Given the description of an element on the screen output the (x, y) to click on. 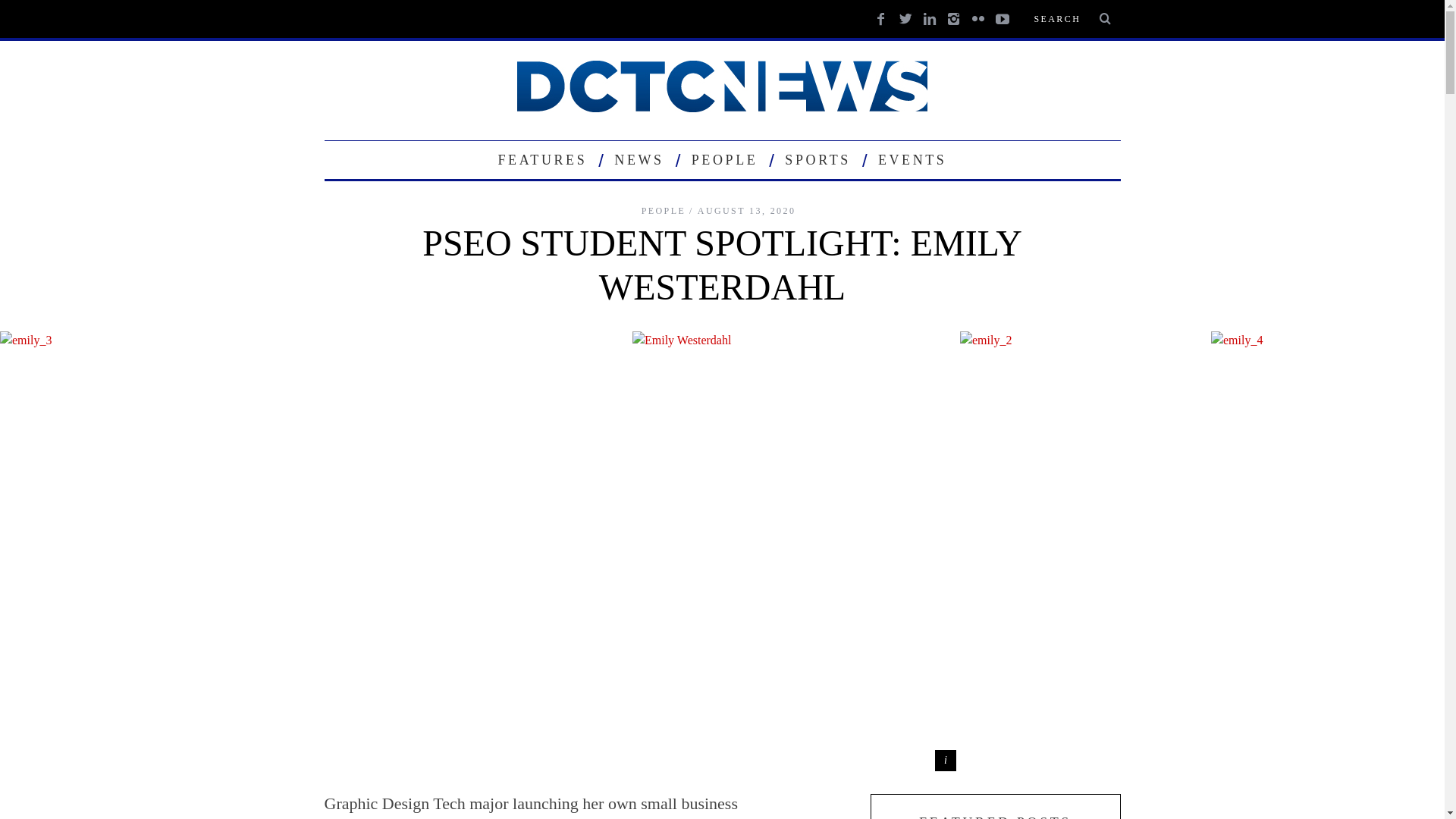
EVENTS (912, 159)
News (638, 159)
NEWS (638, 159)
Events (912, 159)
Features (542, 159)
People (724, 159)
FEATURES (542, 159)
PEOPLE (724, 159)
Search (1071, 18)
Sports (817, 159)
